Given the description of an element on the screen output the (x, y) to click on. 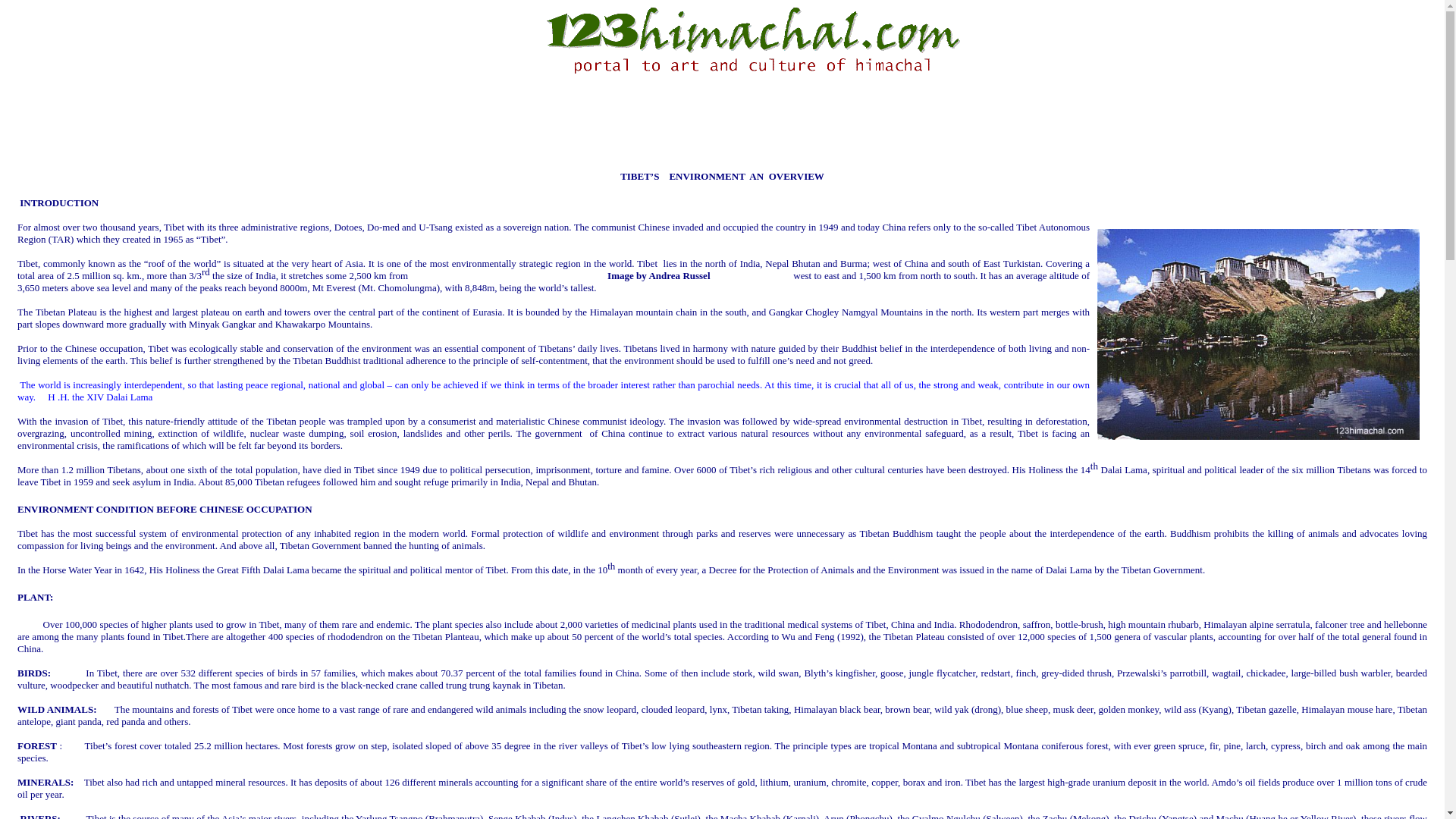
Advertisement Element type: hover (724, 133)
